Given the description of an element on the screen output the (x, y) to click on. 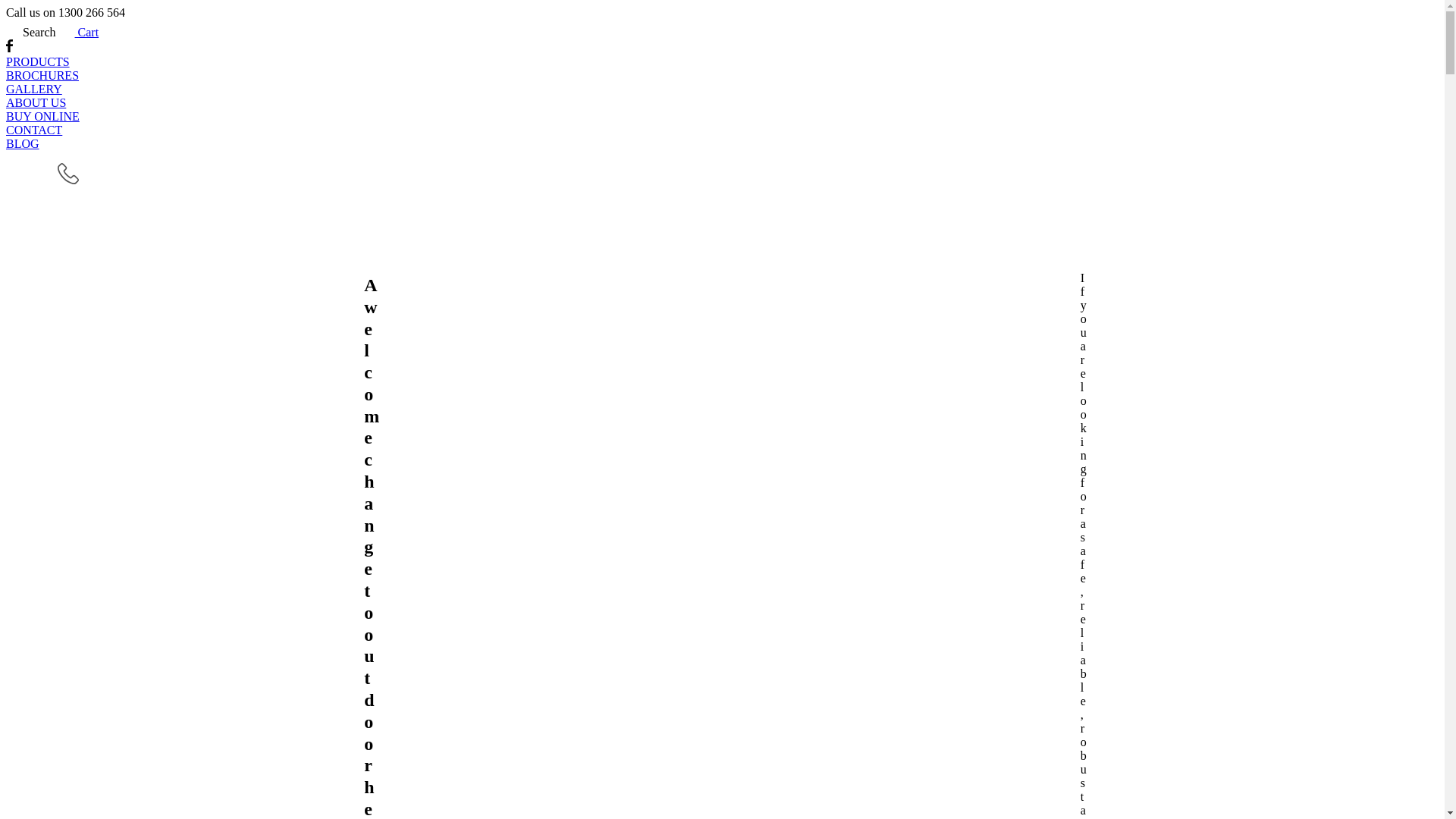
A link to this website's Facebook. Element type: hover (9, 47)
Search Element type: text (31, 31)
PRODUCTS Element type: text (722, 62)
BUY ONLINE Element type: text (722, 116)
BROCHURES Element type: text (722, 75)
ABOUT US Element type: text (722, 102)
CONTACT Element type: text (722, 130)
Cart Element type: text (77, 31)
BLOG Element type: text (722, 143)
GALLERY Element type: text (722, 89)
